Given the description of an element on the screen output the (x, y) to click on. 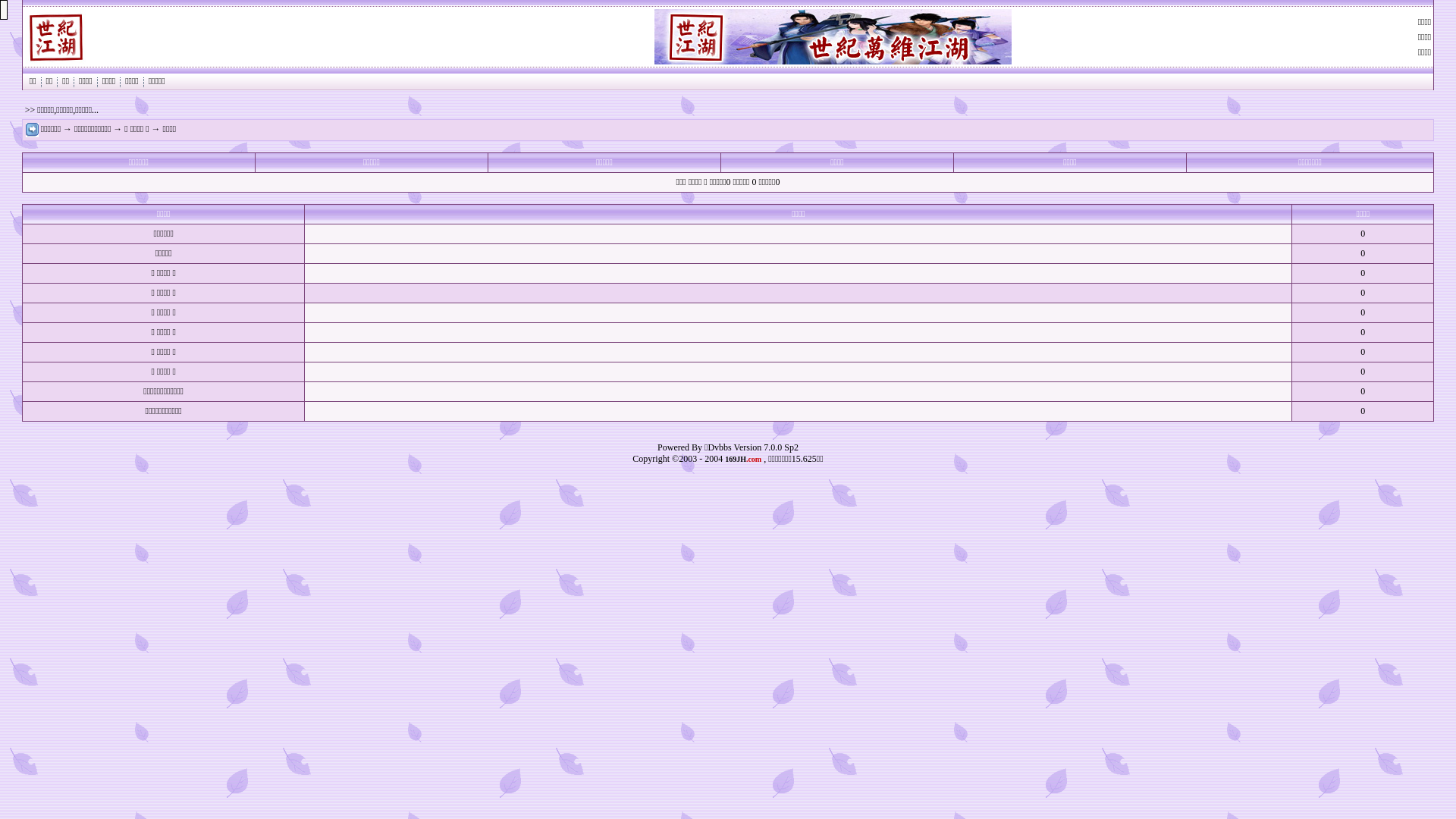
169JH.com Element type: text (742, 458)
